Given the description of an element on the screen output the (x, y) to click on. 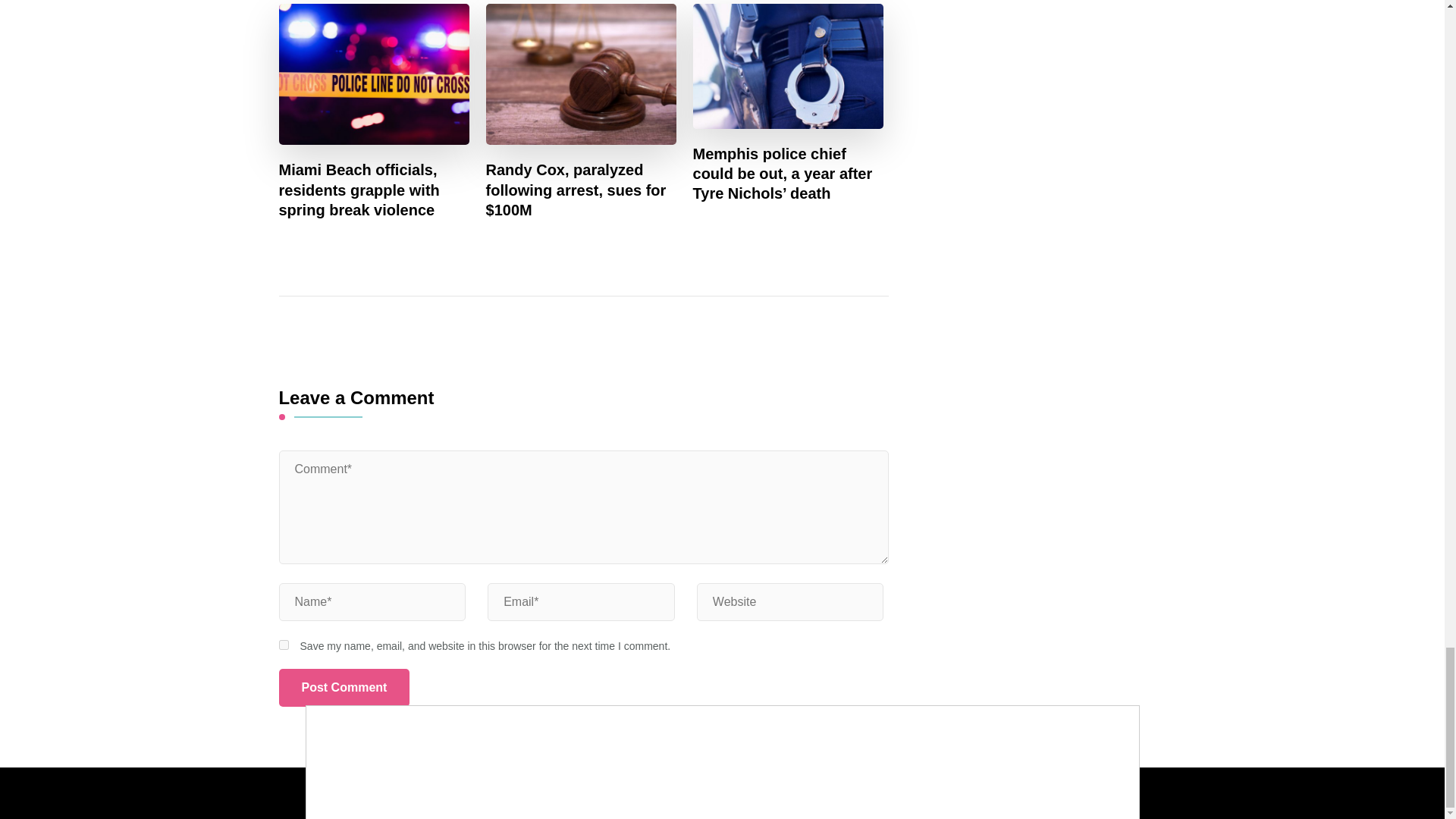
yes (283, 644)
Post Comment (344, 687)
Post Comment (344, 687)
